Given the description of an element on the screen output the (x, y) to click on. 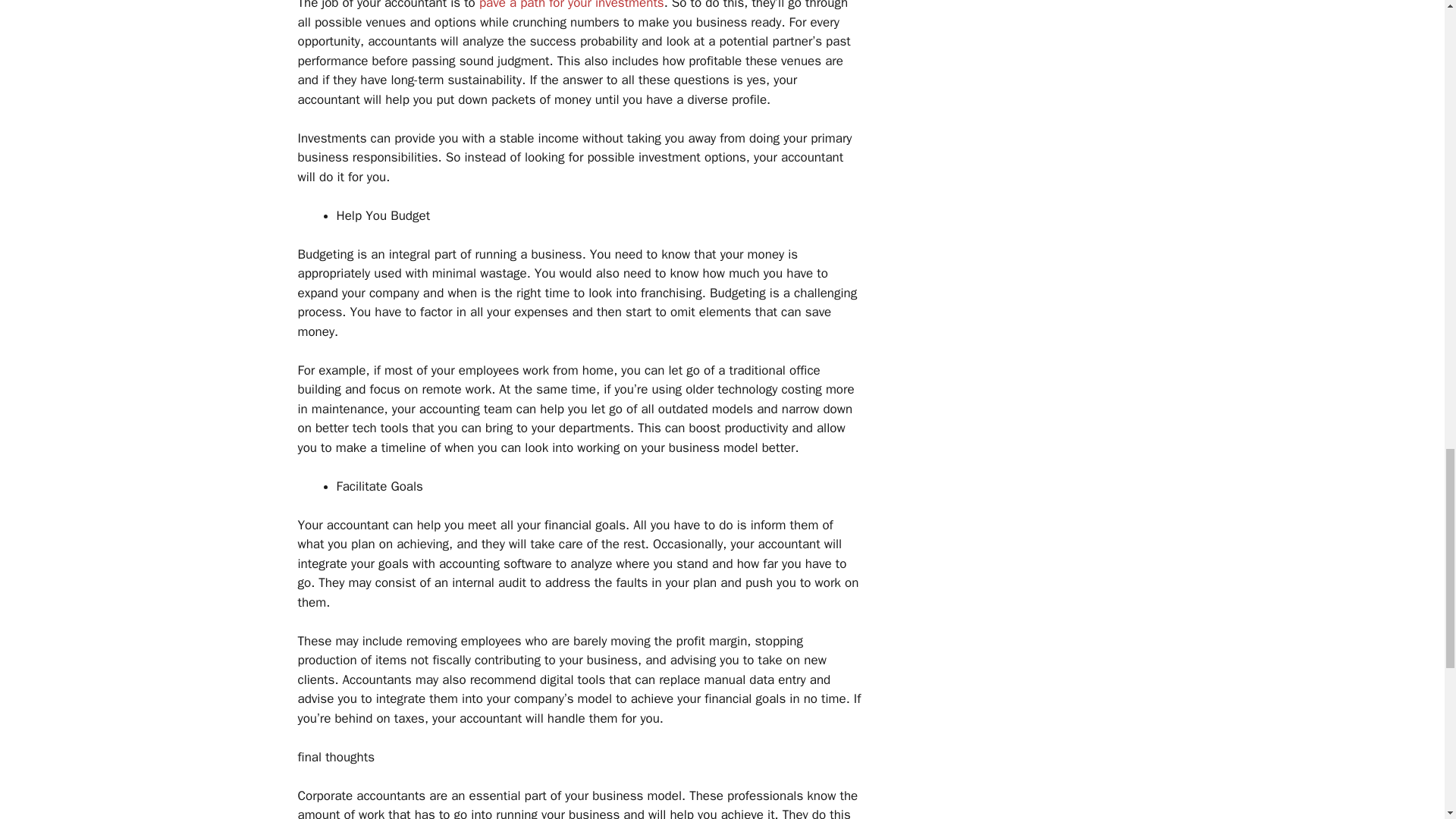
pave a path for your investments (571, 5)
